Given the description of an element on the screen output the (x, y) to click on. 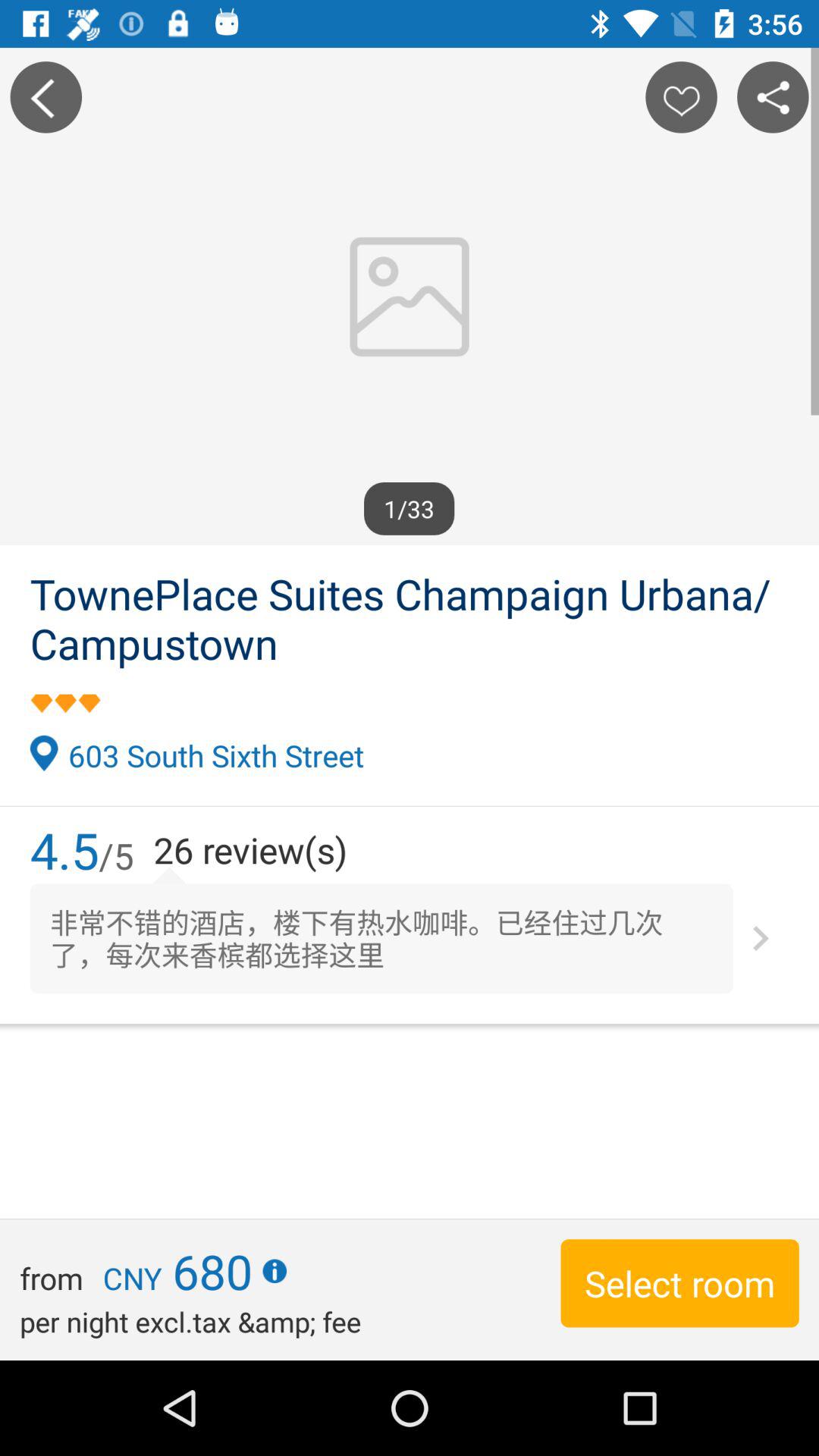
choose the item above towneplace suites champaign item (45, 97)
